Given the description of an element on the screen output the (x, y) to click on. 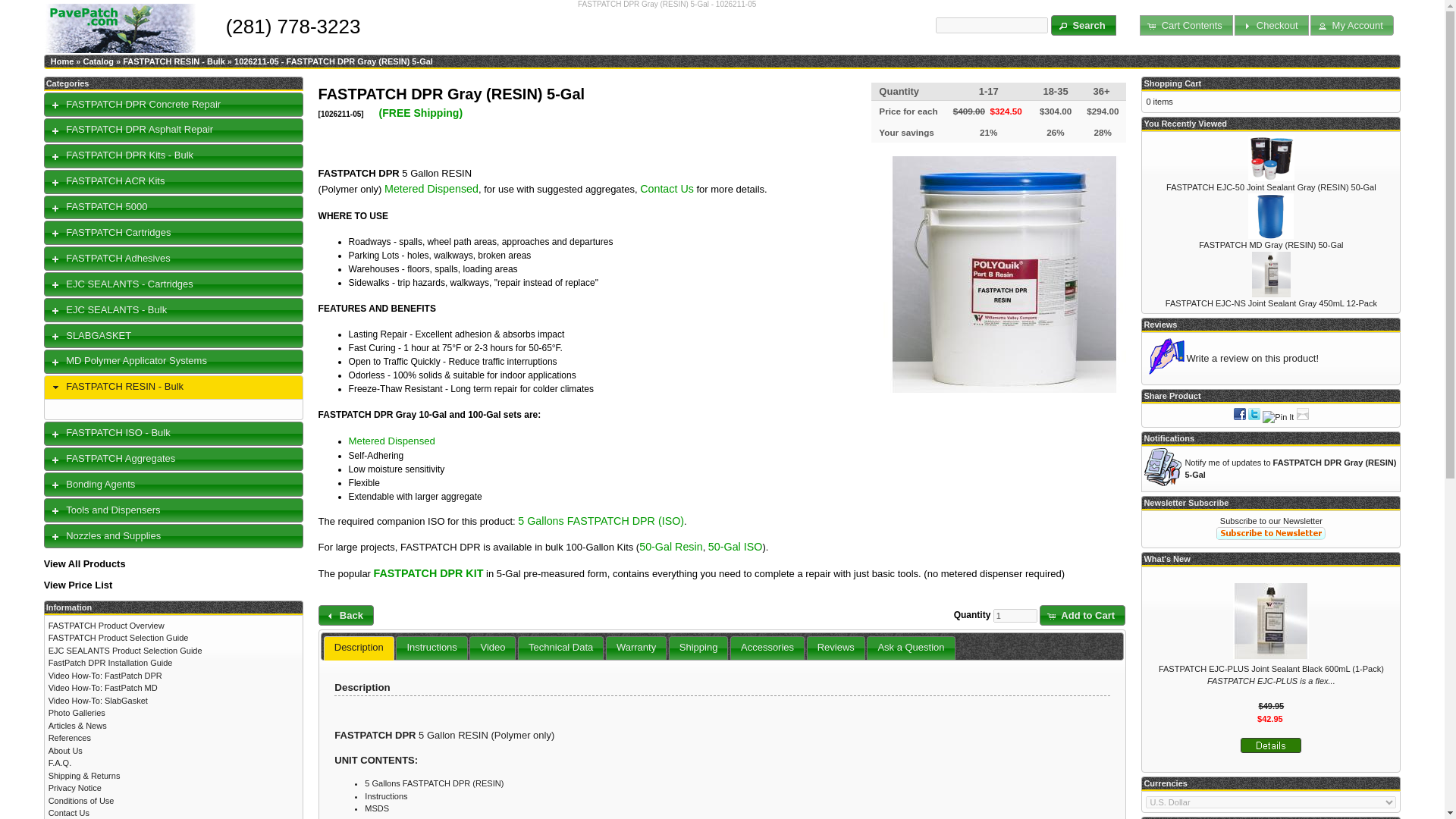
Reviews (836, 648)
Instructions (430, 648)
Search (1083, 25)
Cart Contents (1186, 25)
Back (346, 615)
50-Gal Resin (670, 546)
Metered Dispensed (392, 440)
Bulk Applicator Systems (392, 440)
Checkout (1270, 25)
Bulk Applicator Systems (431, 188)
FASTPATCH RESIN - Bulk (173, 61)
Technical Data (560, 648)
My Account (1351, 25)
Home (62, 61)
Contact Us (667, 188)
